Given the description of an element on the screen output the (x, y) to click on. 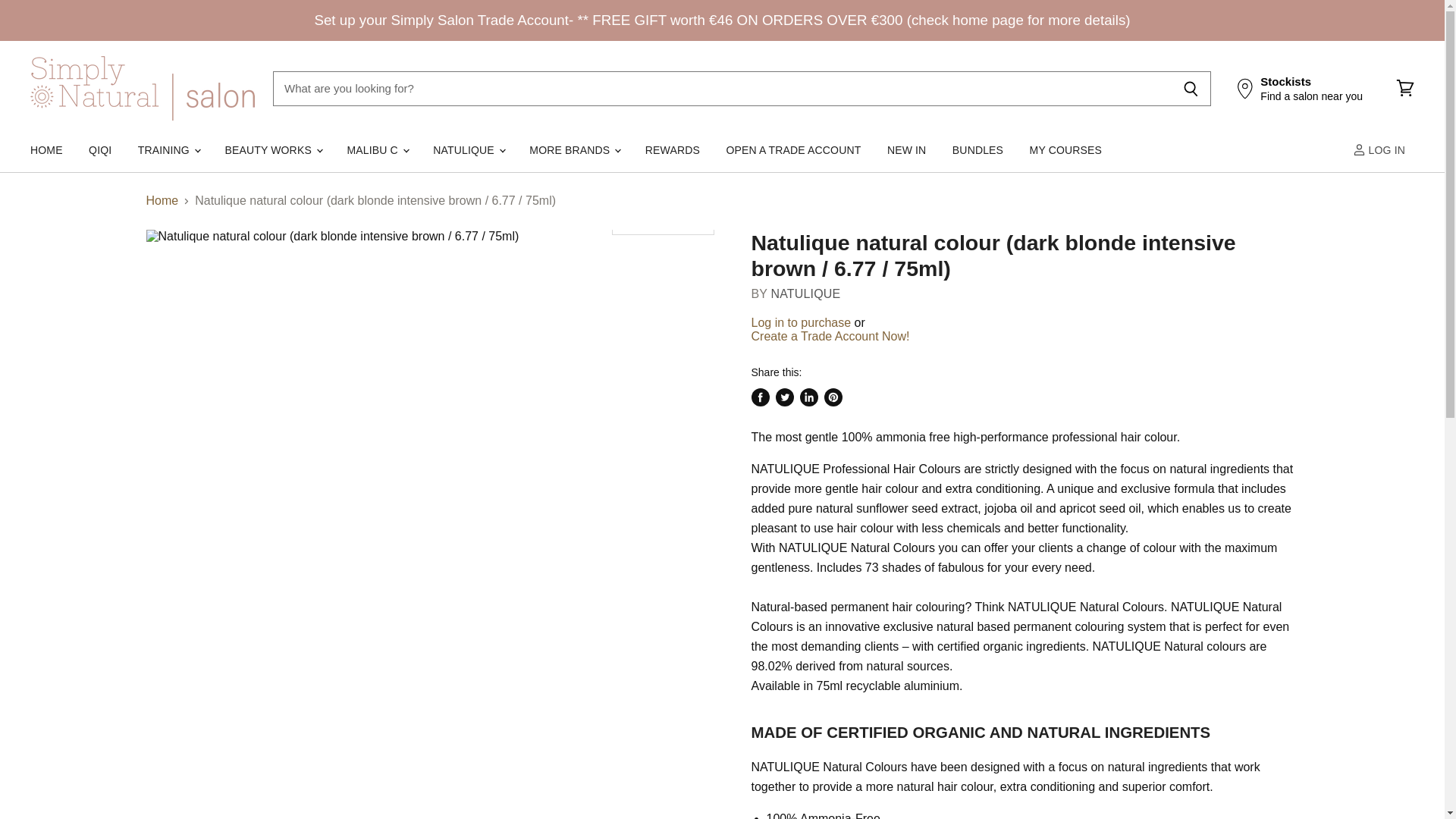
QIQI (99, 150)
View cart (1405, 88)
Pin icon (1244, 88)
ACCOUNT ICON (1358, 149)
HOME (46, 150)
BEAUTY WORKS (271, 150)
TRAINING (167, 150)
Natulique (805, 293)
